Given the description of an element on the screen output the (x, y) to click on. 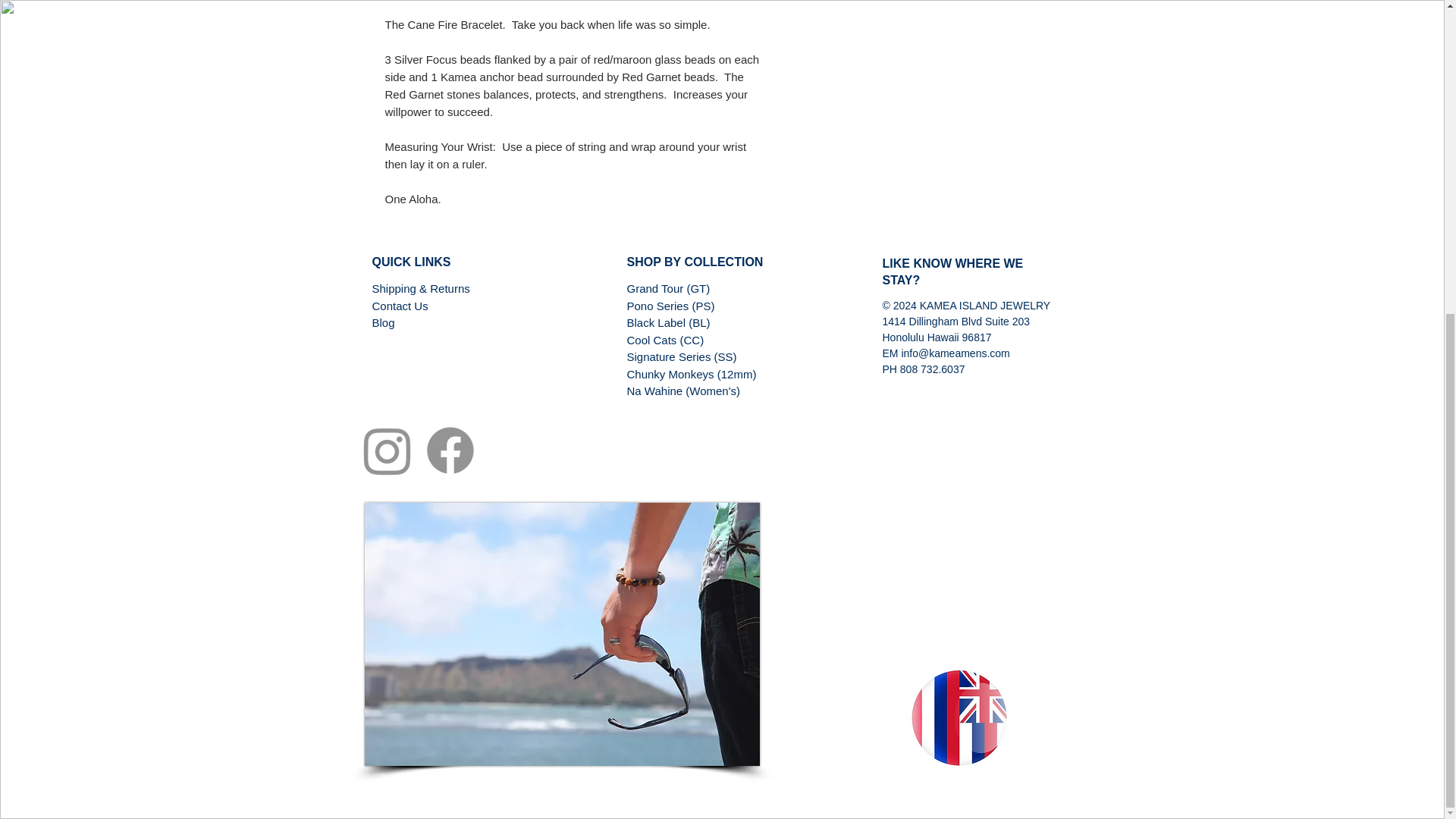
Honolulu Hawaii 96817 (936, 337)
Contact Us (399, 305)
Blog (382, 322)
SHOP BY COLLECTION (694, 261)
